Given the description of an element on the screen output the (x, y) to click on. 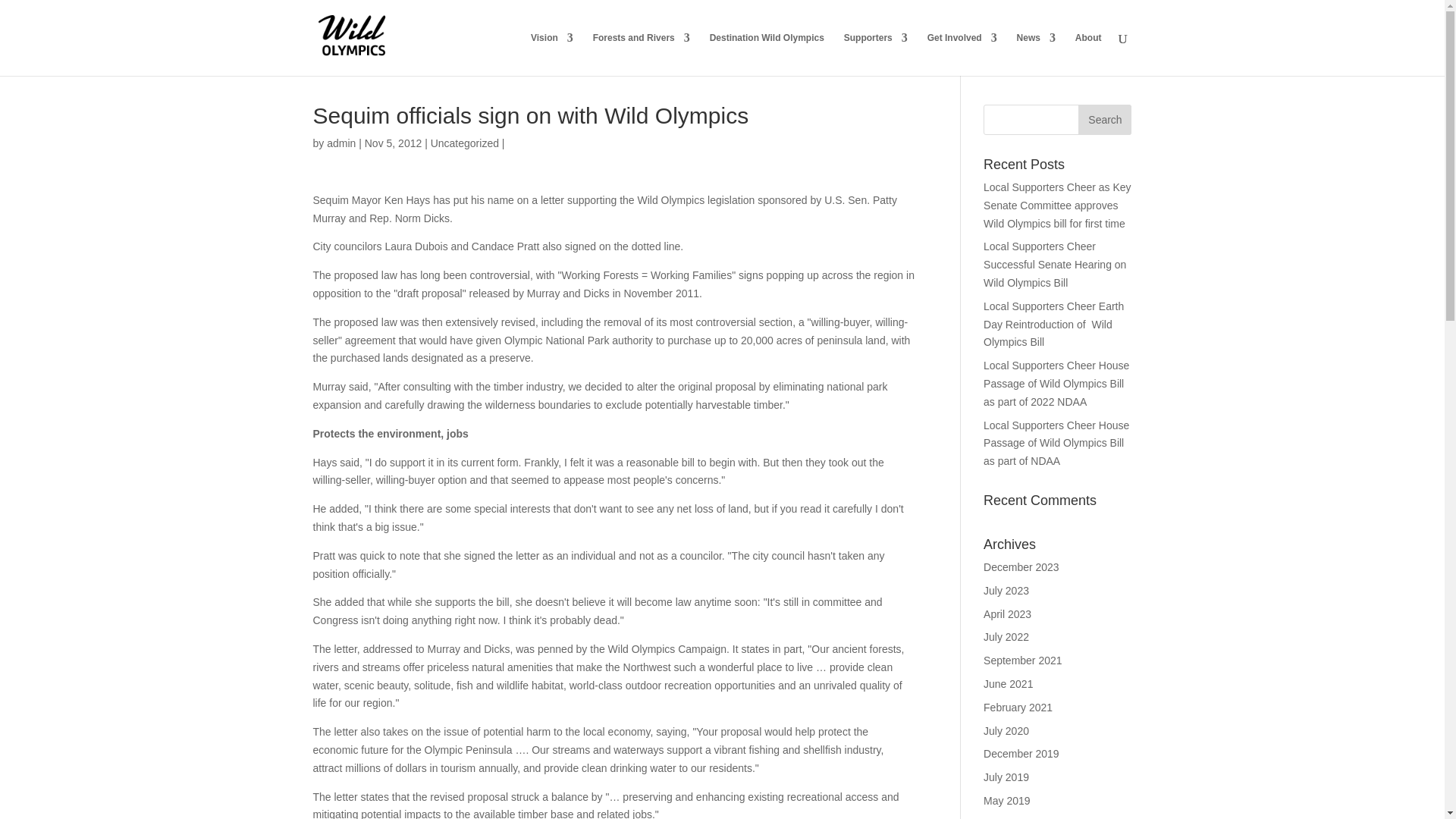
Posts by admin (340, 143)
Get Involved (962, 54)
News (1035, 54)
Vision (552, 54)
Destination Wild Olympics (767, 54)
Search (1104, 119)
Supporters (875, 54)
Forests and Rivers (641, 54)
